Given the description of an element on the screen output the (x, y) to click on. 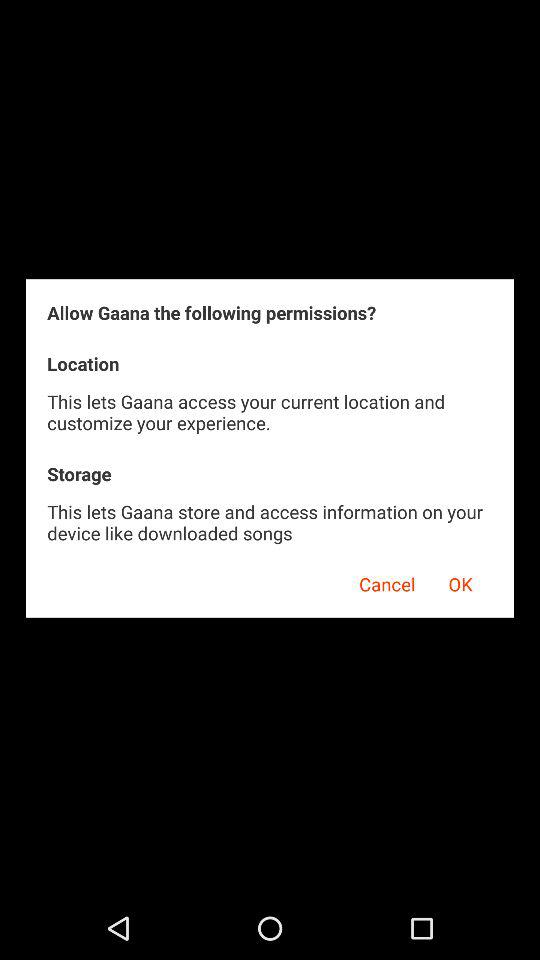
launch app below the this lets gaana icon (380, 581)
